Given the description of an element on the screen output the (x, y) to click on. 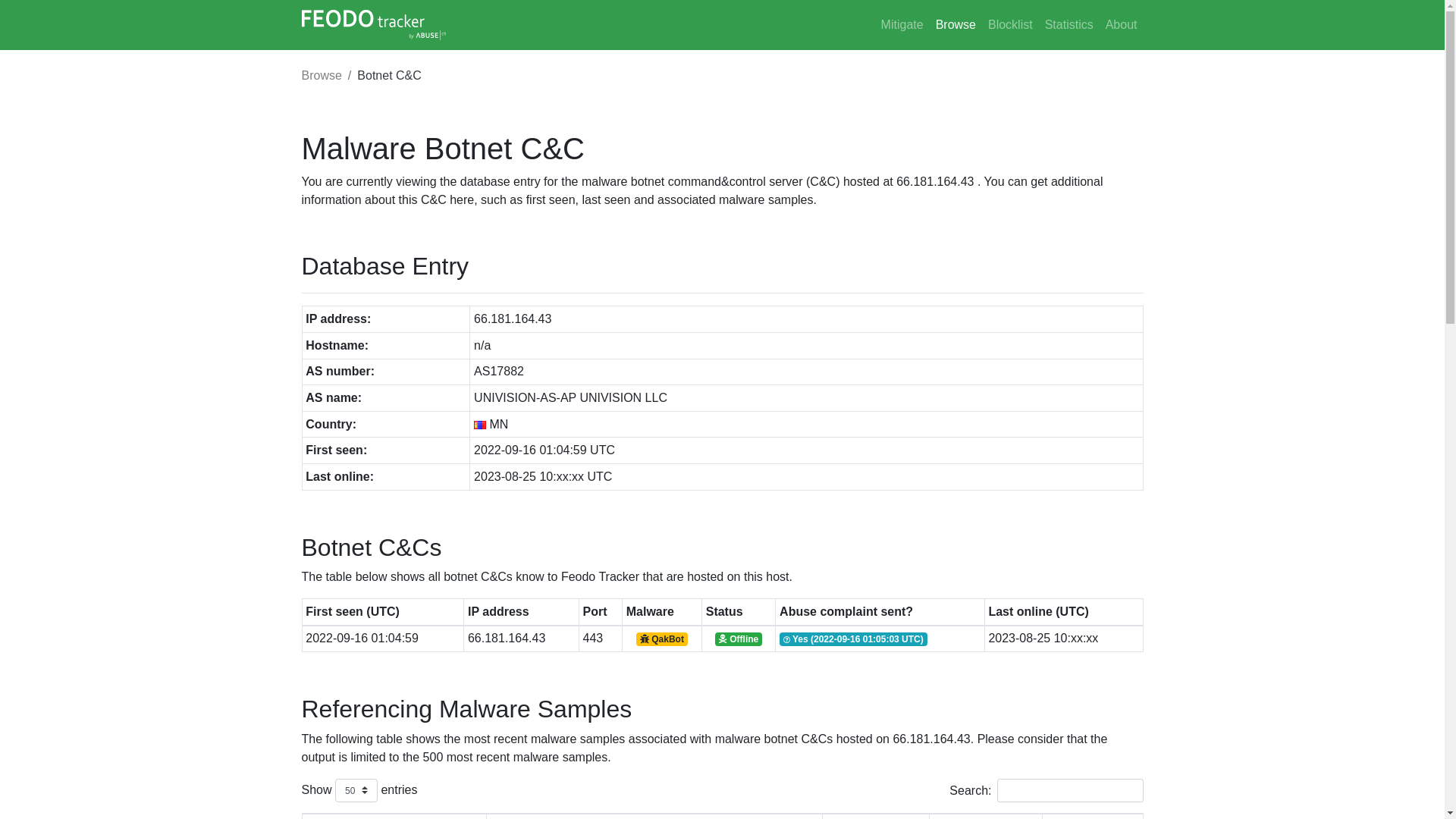
MN Element type: hover (479, 424)
Mitigate Element type: text (902, 24)
Blocklist Element type: text (1010, 24)
Statistics Element type: text (1068, 24)
About Element type: text (1121, 24)
Browse Element type: text (955, 24)
Browse Element type: text (321, 75)
